Given the description of an element on the screen output the (x, y) to click on. 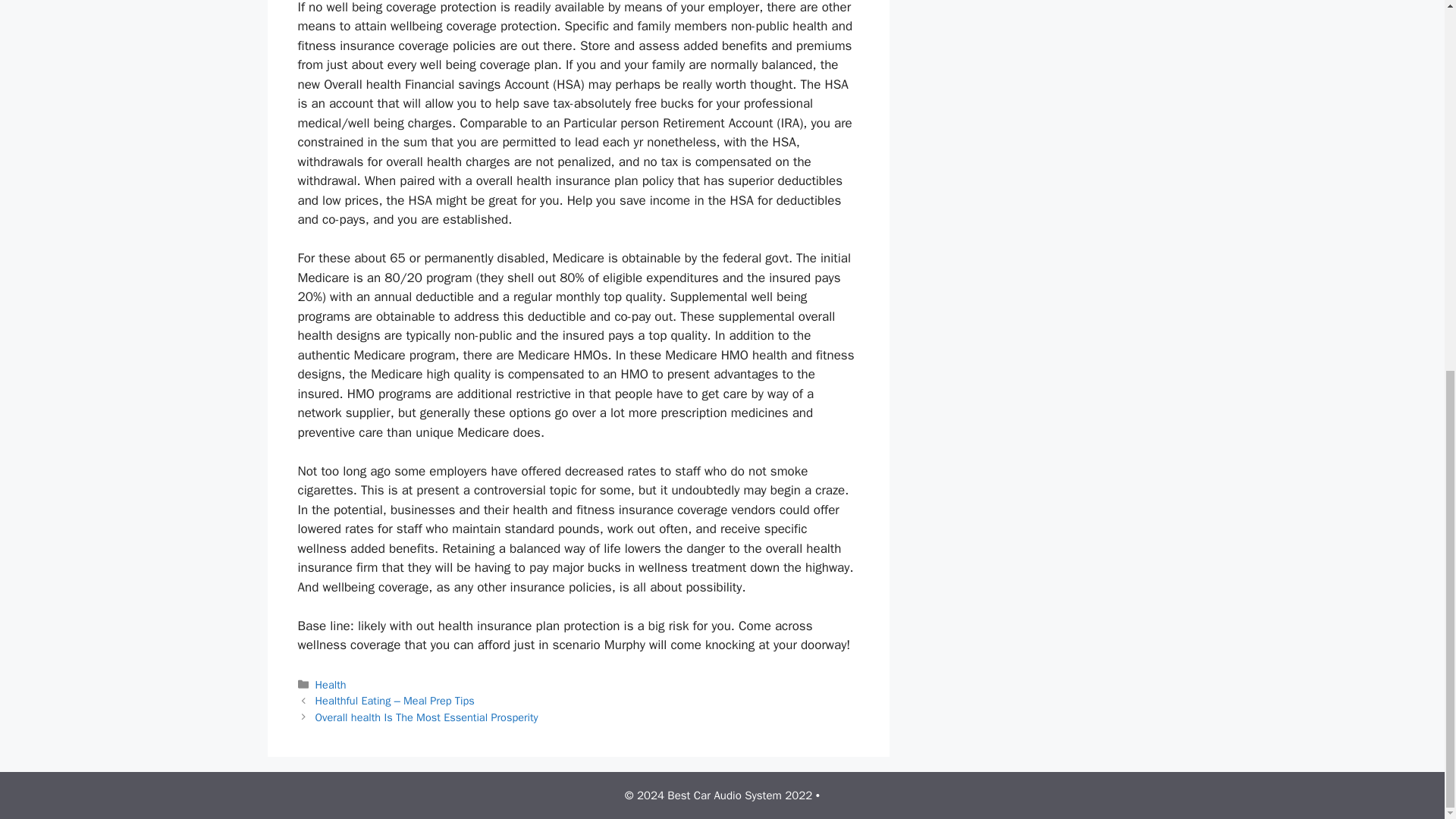
Overall health Is The Most Essential Prosperity (426, 716)
Health (330, 684)
